Given the description of an element on the screen output the (x, y) to click on. 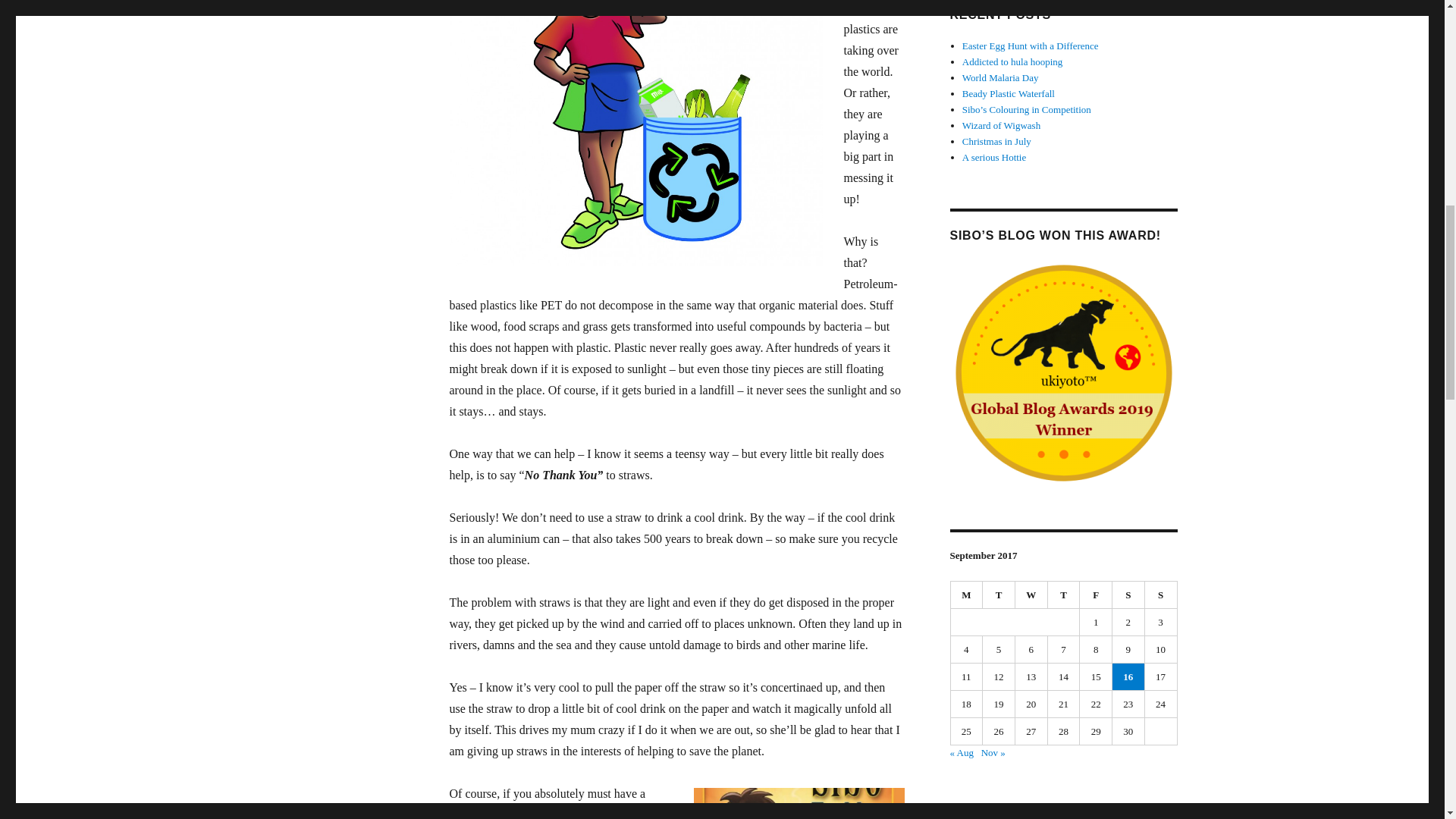
Wednesday (1031, 595)
Sunday (1160, 595)
World Malaria Day (1000, 77)
Friday (1096, 595)
Thursday (1064, 595)
Monday (967, 595)
Addicted to hula hooping (1012, 61)
Saturday (1128, 595)
recycling (377, 3)
Easter Egg Hunt with a Difference (1030, 45)
Biodiversity (291, 3)
Tuesday (998, 595)
healthy (337, 3)
